Given the description of an element on the screen output the (x, y) to click on. 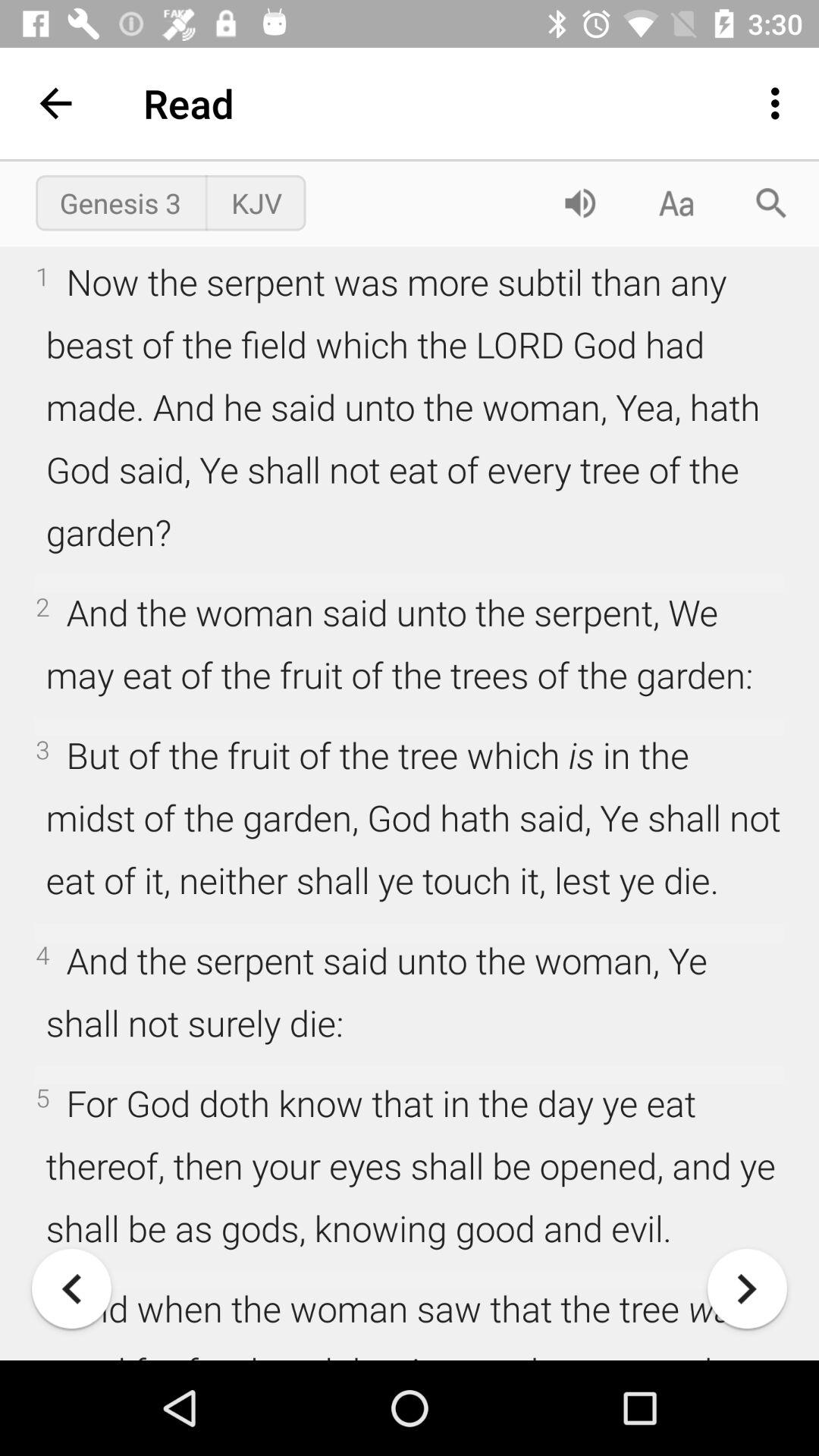
turn off the icon next to kjv (579, 202)
